Given the description of an element on the screen output the (x, y) to click on. 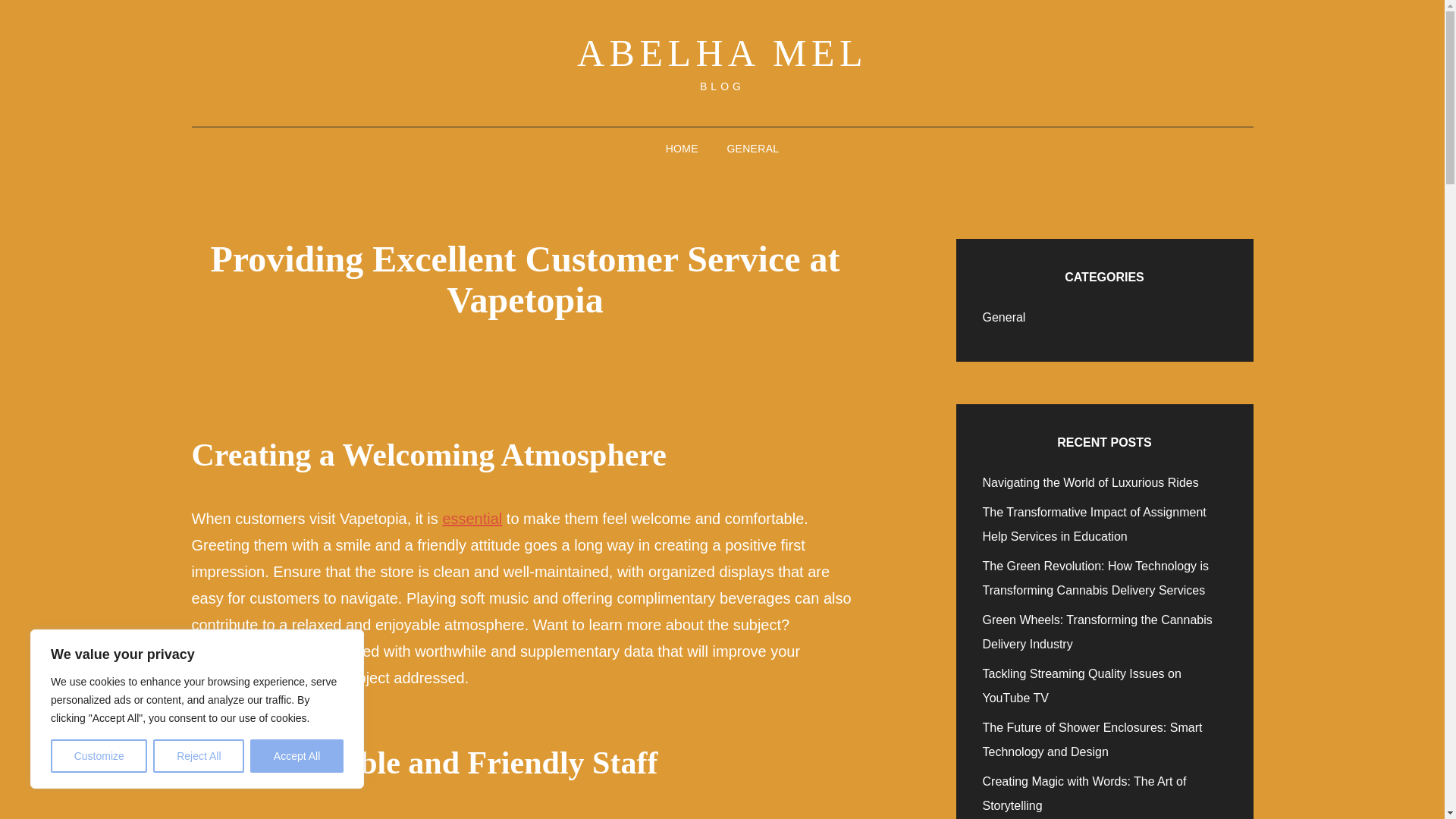
Customize (98, 756)
The Future of Shower Enclosures: Smart Technology and Design (1092, 739)
ABELHA MEL (721, 52)
Navigating the World of Luxurious Rides (1090, 481)
General (1004, 317)
Creating Magic with Words: The Art of Storytelling (1084, 793)
essential (472, 518)
HOME (681, 148)
Reject All (198, 756)
